Given the description of an element on the screen output the (x, y) to click on. 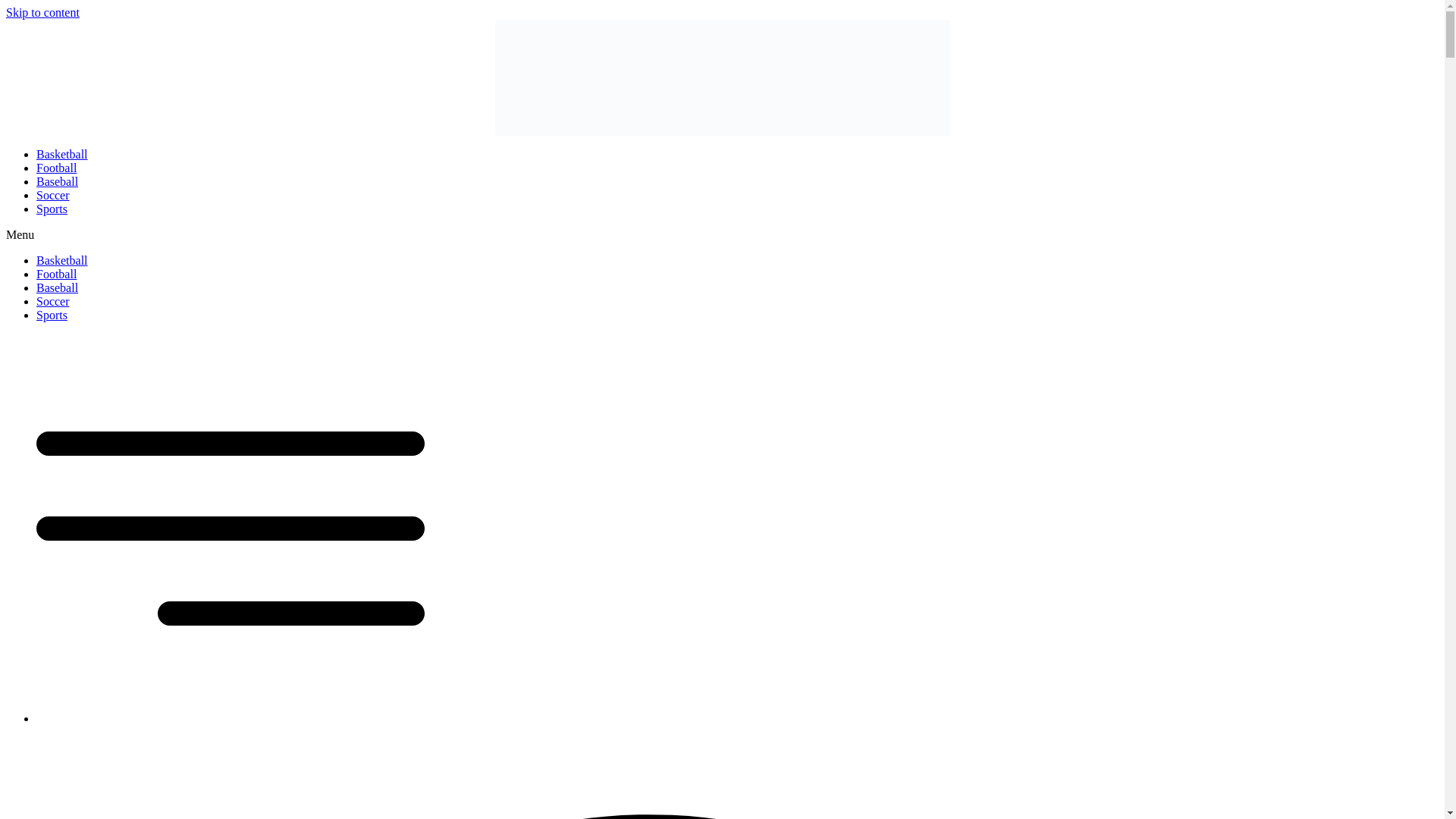
Soccer (52, 300)
Sports (51, 314)
Baseball (57, 181)
Football (56, 167)
Football (56, 273)
Skip to content (42, 11)
Basketball (61, 154)
Basketball (61, 259)
Baseball (57, 287)
Sports (51, 208)
